Given the description of an element on the screen output the (x, y) to click on. 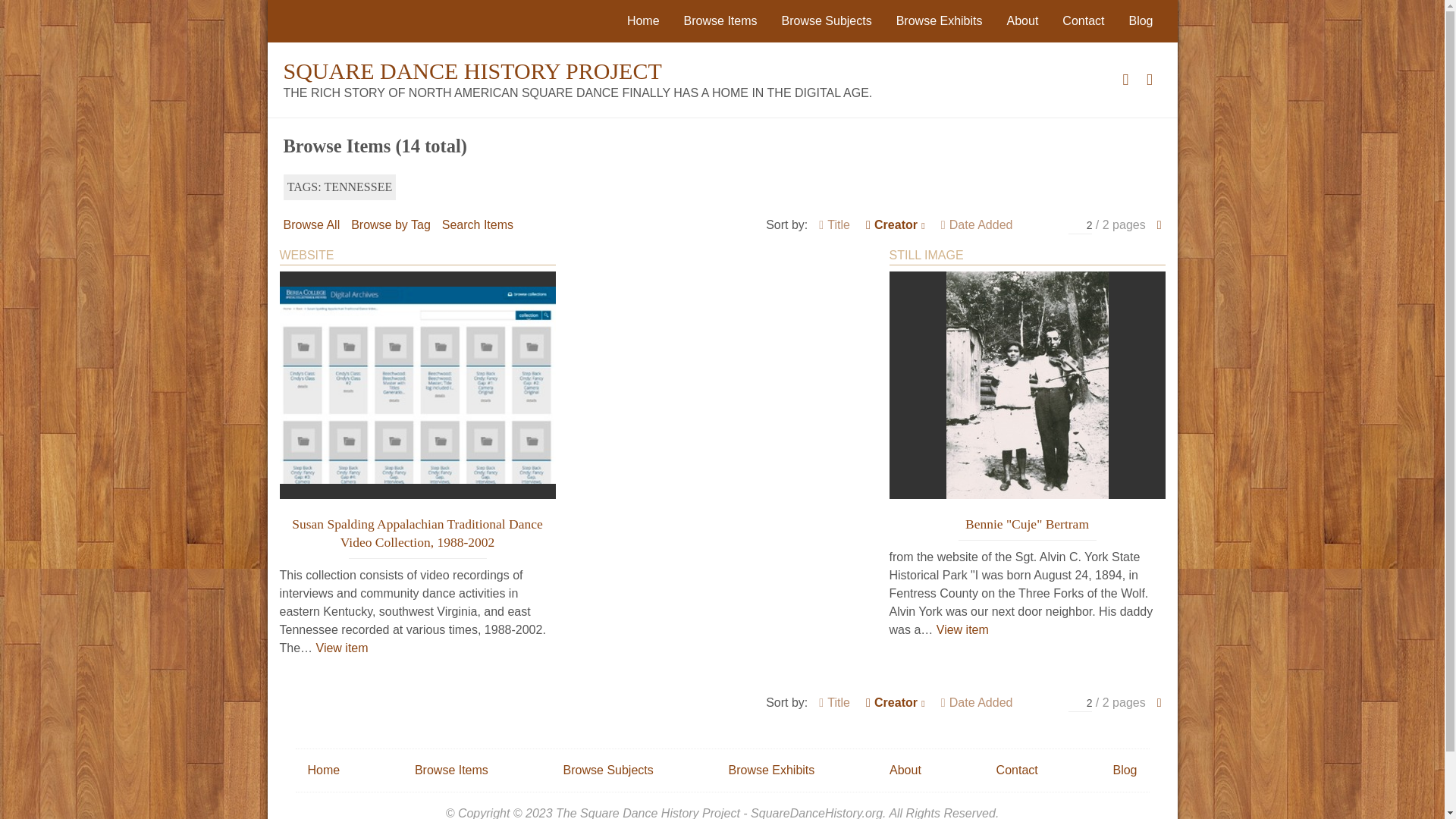
Browse All (311, 224)
Home (643, 20)
SQUARE DANCE HISTORY PROJECT (472, 70)
Browse Subjects (826, 20)
Browse by Tag (390, 224)
Browse Items (720, 20)
View item (341, 648)
Search Items (477, 224)
Title (834, 224)
